Given the description of an element on the screen output the (x, y) to click on. 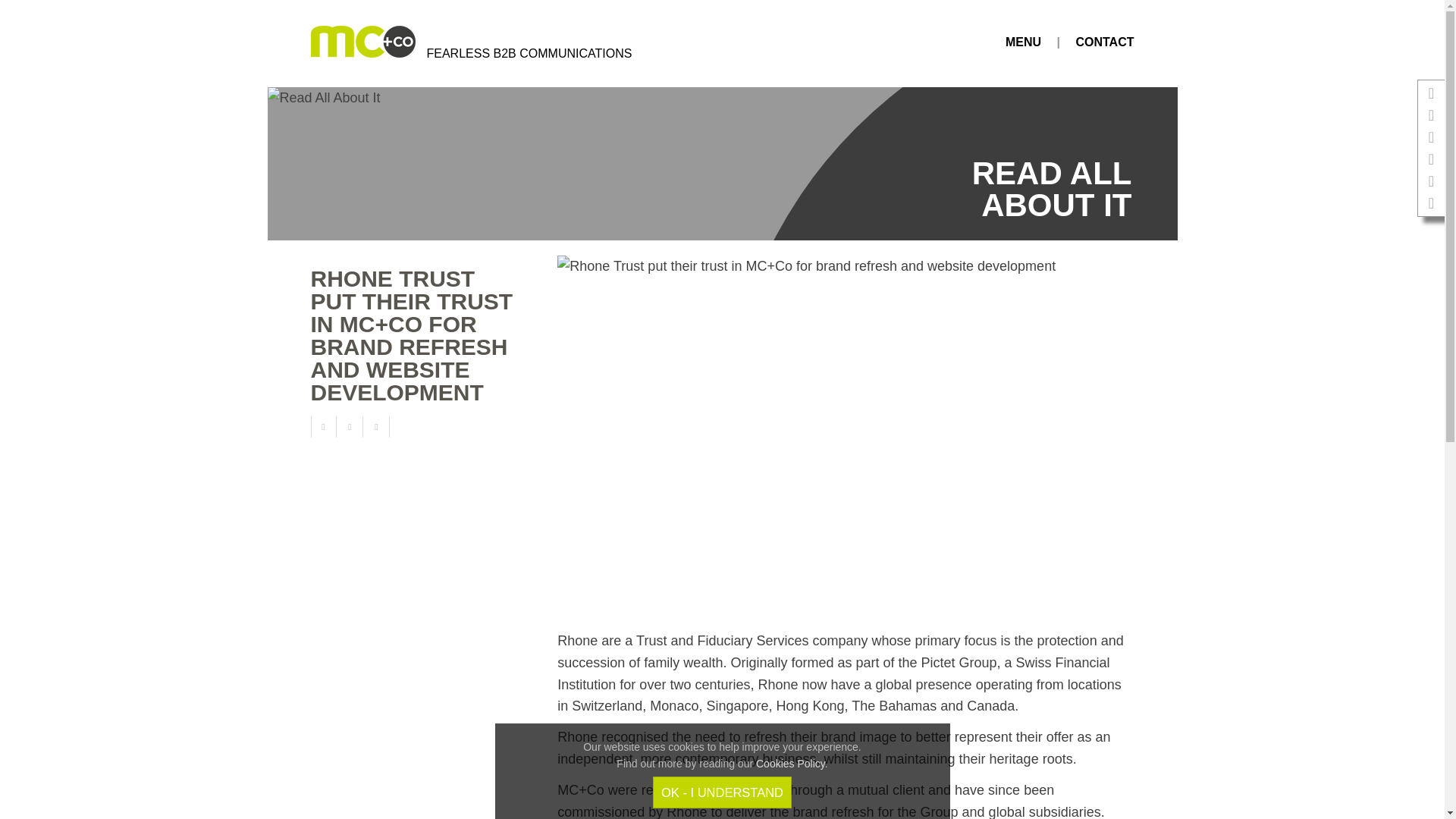
FEARLESS B2B COMMUNICATIONS (448, 43)
OK - I Understand (722, 792)
Share on Facebook (323, 426)
CONTACT (1104, 42)
Home (448, 43)
MENU (1023, 42)
Share on Twitter (352, 426)
Share on LinkedIn (378, 426)
